Given the description of an element on the screen output the (x, y) to click on. 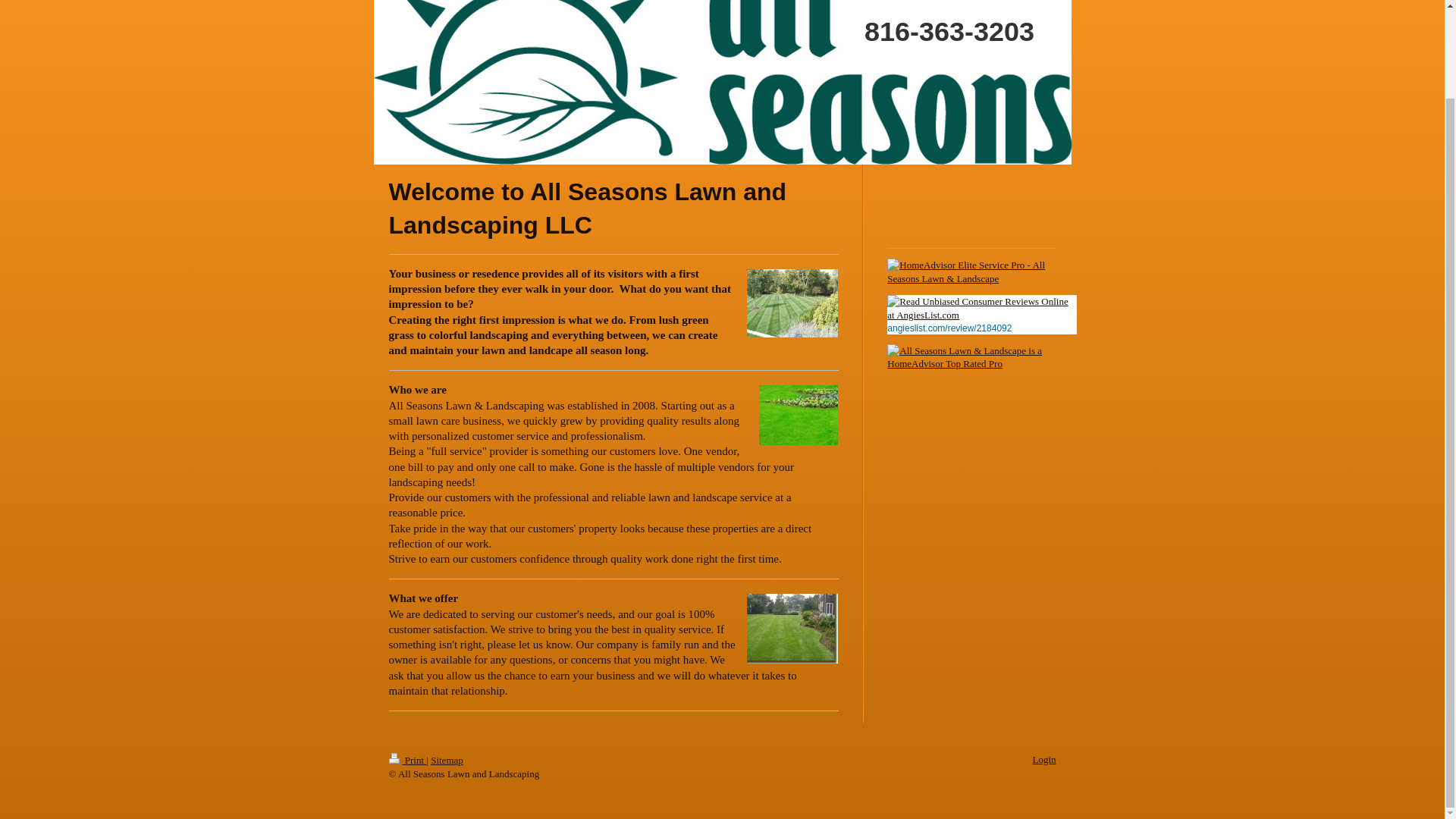
Sitemap (446, 759)
Login (1043, 758)
Print (407, 759)
                                        816-363-3203 (804, 23)
